Given the description of an element on the screen output the (x, y) to click on. 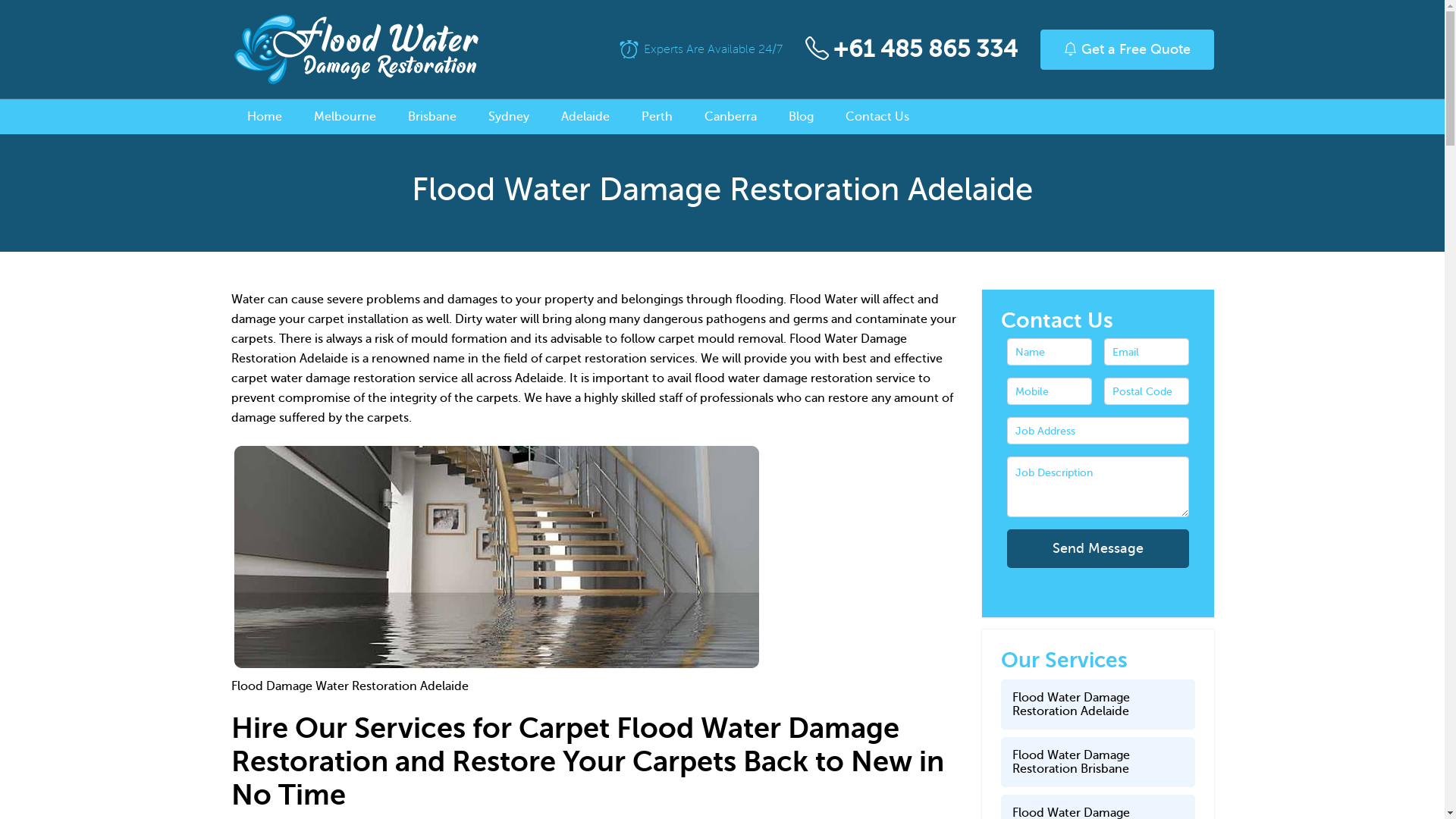
Adelaide Element type: text (585, 116)
Home Element type: text (264, 116)
Get a Free Quote Element type: text (1127, 48)
Perth Element type: text (656, 116)
Flood Water Damage Restoration Adelaide Element type: text (1098, 704)
Brisbane Element type: text (431, 116)
Melbourne Element type: text (344, 116)
Send Message Element type: text (1098, 548)
Contact Us Element type: text (876, 116)
Sydney Element type: text (508, 116)
+61 485 865 334 Element type: text (924, 49)
Canberra Element type: text (729, 116)
Flood Water Damage Restoration Brisbane Element type: text (1098, 762)
Blog Element type: text (800, 116)
